Given the description of an element on the screen output the (x, y) to click on. 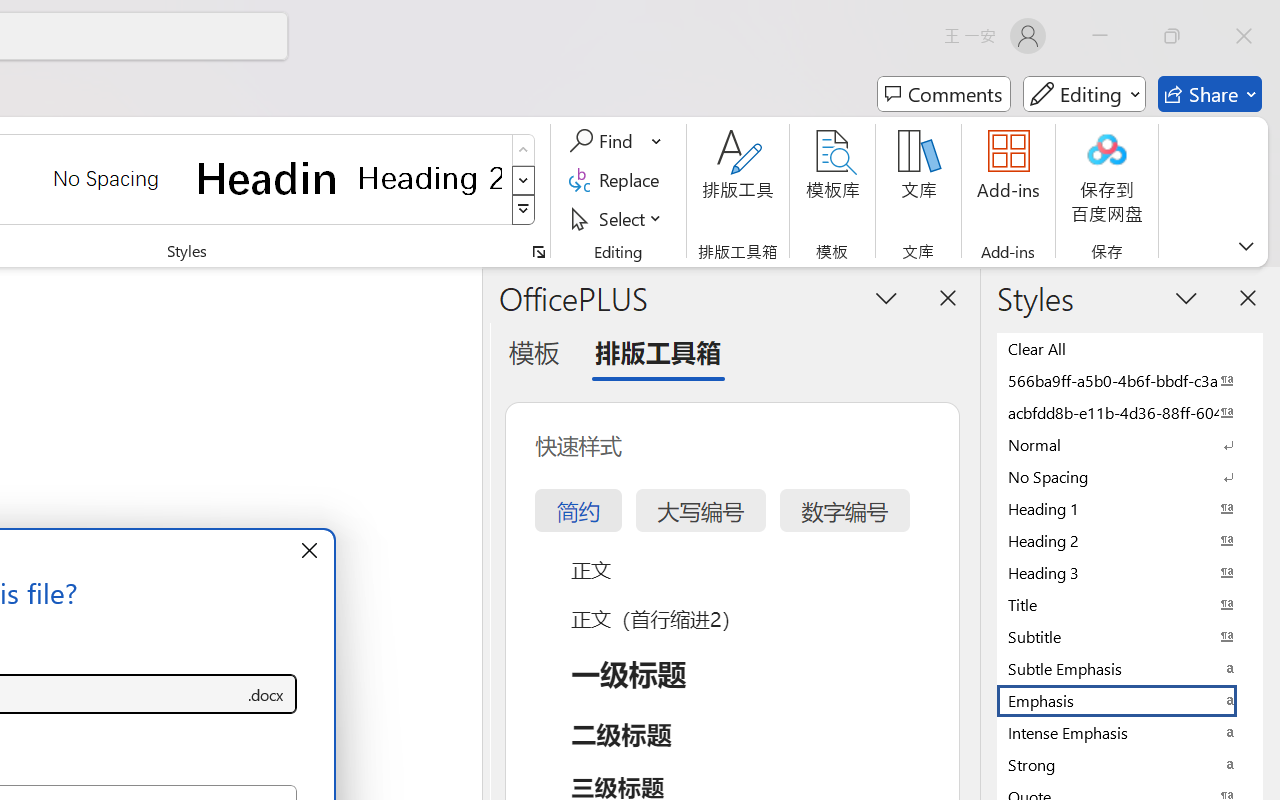
Replace... (617, 179)
Mode (1083, 94)
Task Pane Options (886, 297)
Share (1210, 94)
Find (616, 141)
566ba9ff-a5b0-4b6f-bbdf-c3ab41993fc2 (1130, 380)
Close (1244, 36)
Row Down (523, 180)
Class: NetUIImage (523, 210)
